Given the description of an element on the screen output the (x, y) to click on. 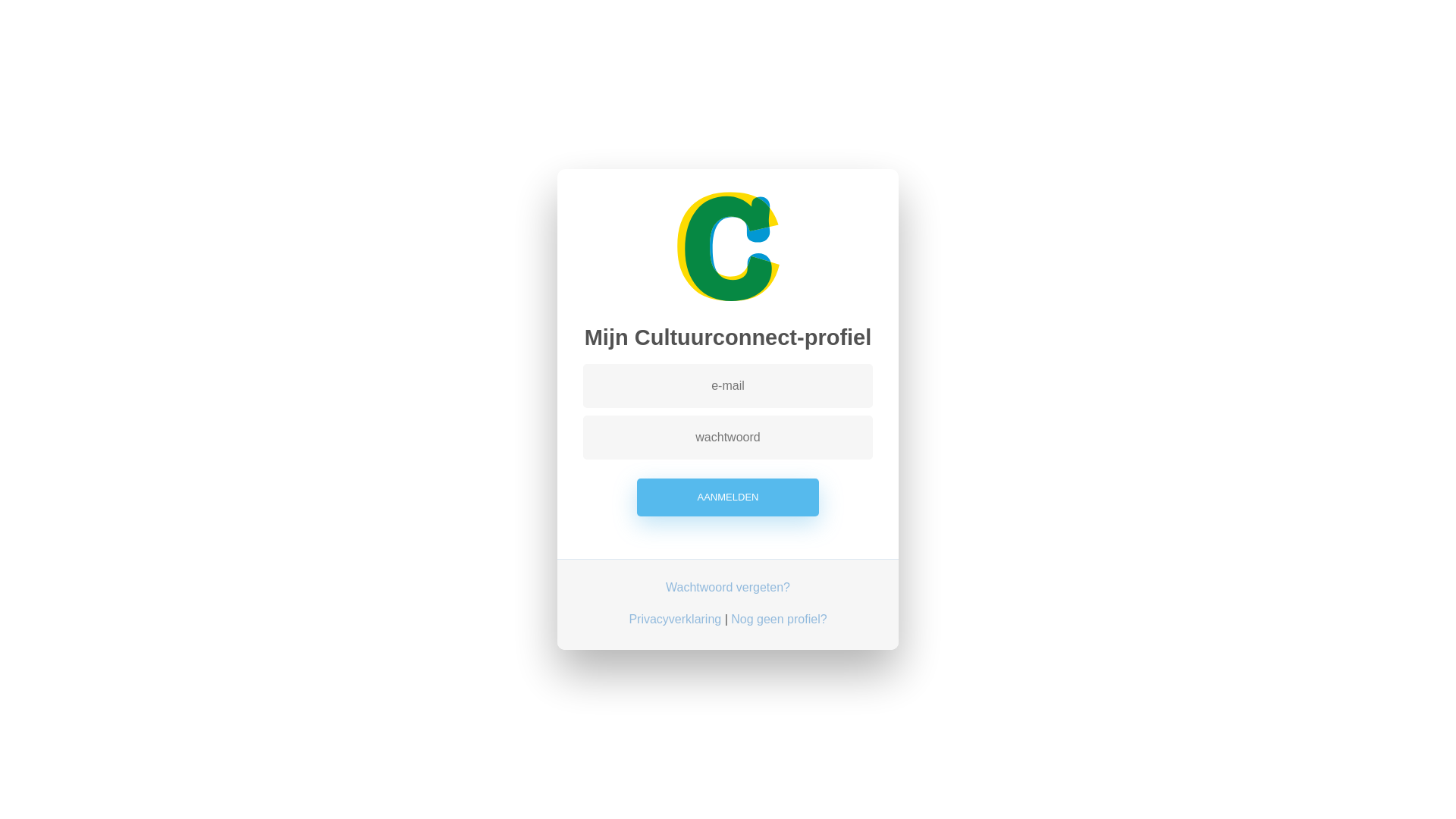
Privacyverklaring Element type: text (674, 620)
Nog geen profiel? Element type: text (778, 620)
Aanmelden Element type: text (728, 497)
Wachtwoord vergeten? Element type: text (727, 588)
